Given the description of an element on the screen output the (x, y) to click on. 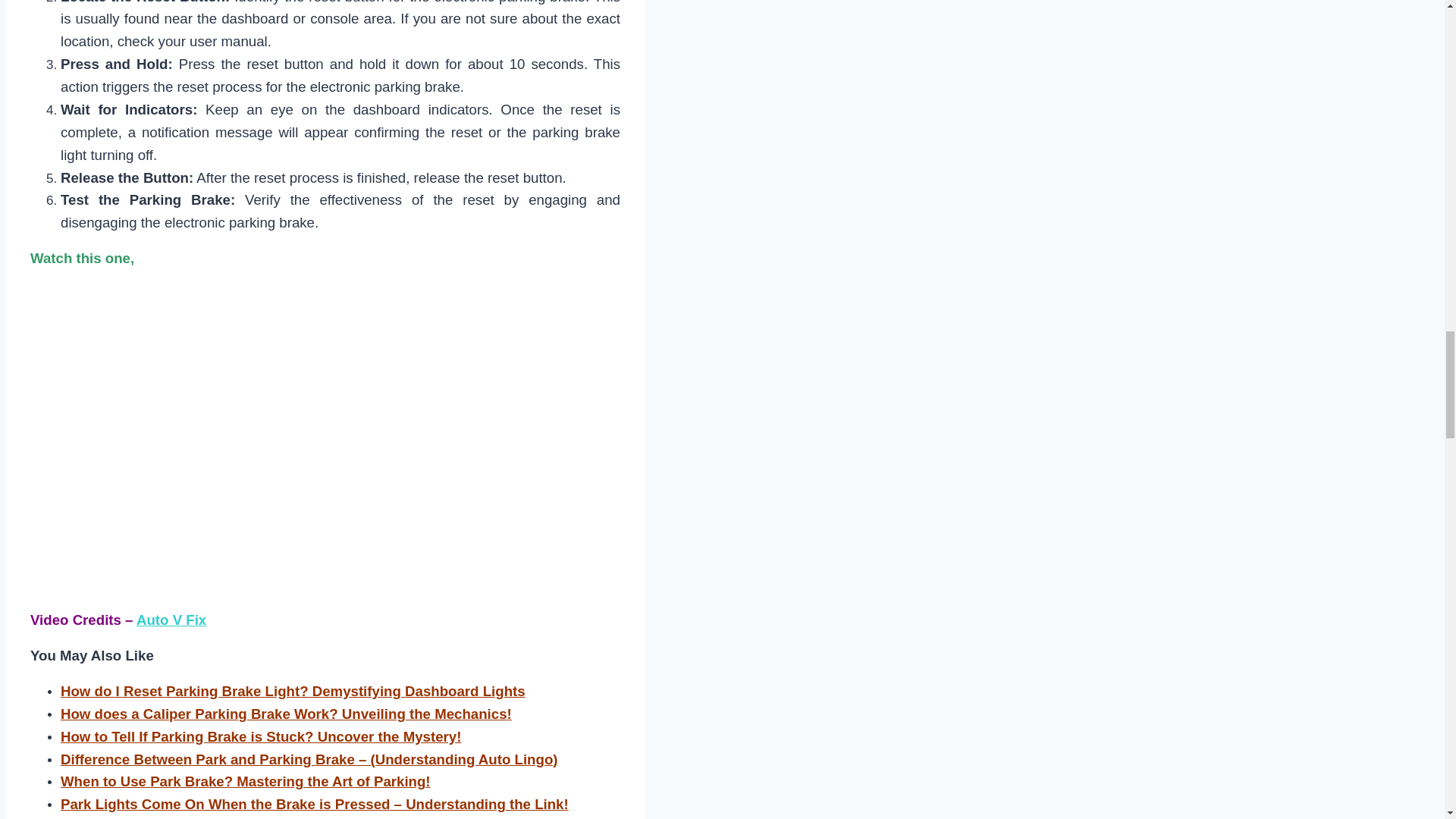
Auto V Fix (171, 619)
How to Tell If Parking Brake is Stuck? Uncover the Mystery! (261, 736)
When to Use Park Brake? Mastering the Art of Parking! (245, 781)
